Given the description of an element on the screen output the (x, y) to click on. 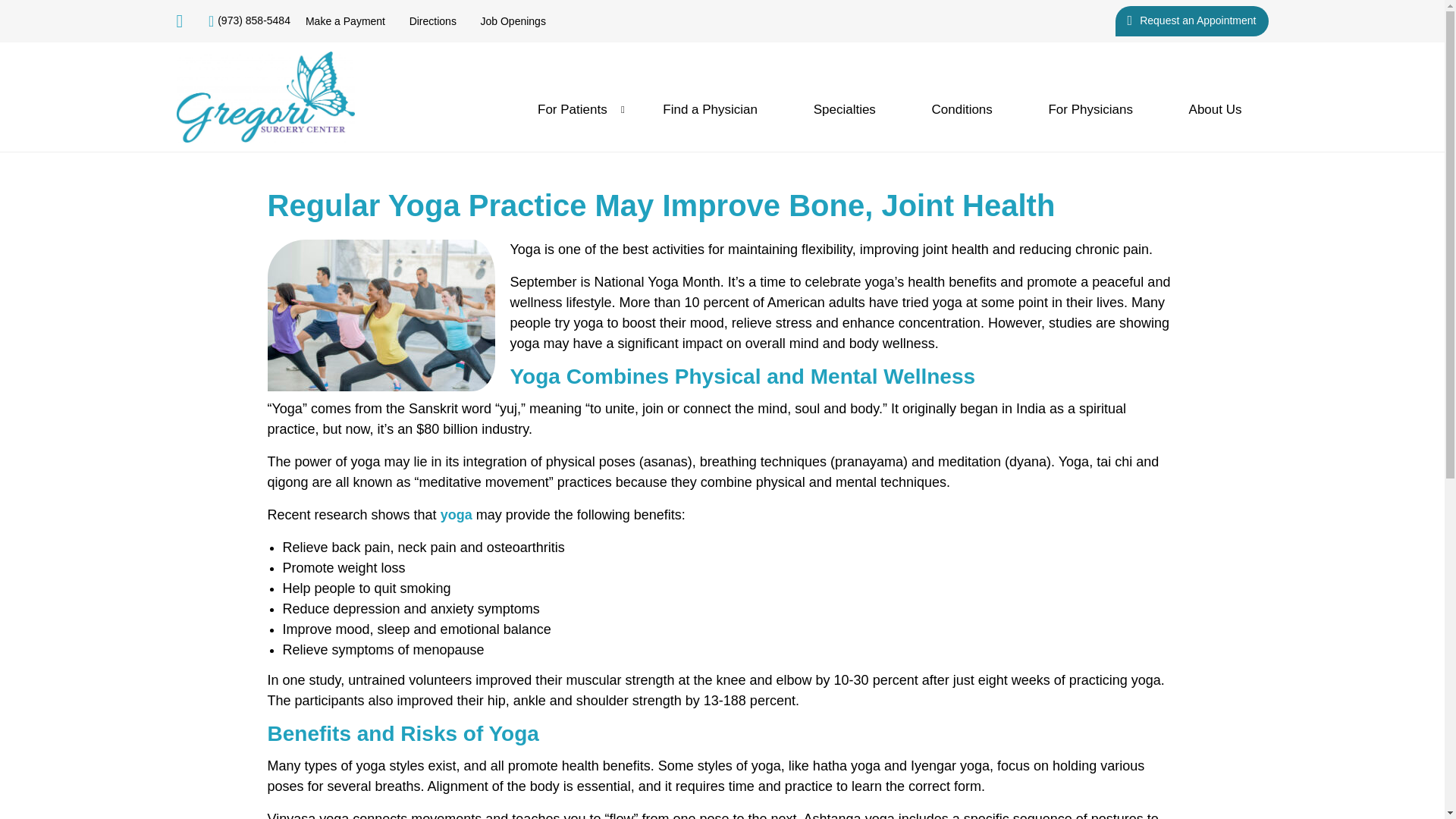
Directions (433, 21)
About Us (1215, 109)
Make a Payment (345, 21)
For Patients (572, 109)
Gregori Surgery Center (264, 96)
Conditions (961, 109)
Job Openings (513, 21)
yoga (456, 514)
Specialties (844, 109)
For Physicians (1090, 109)
Find a Physician (709, 109)
Request an Appointment (1191, 20)
